Given the description of an element on the screen output the (x, y) to click on. 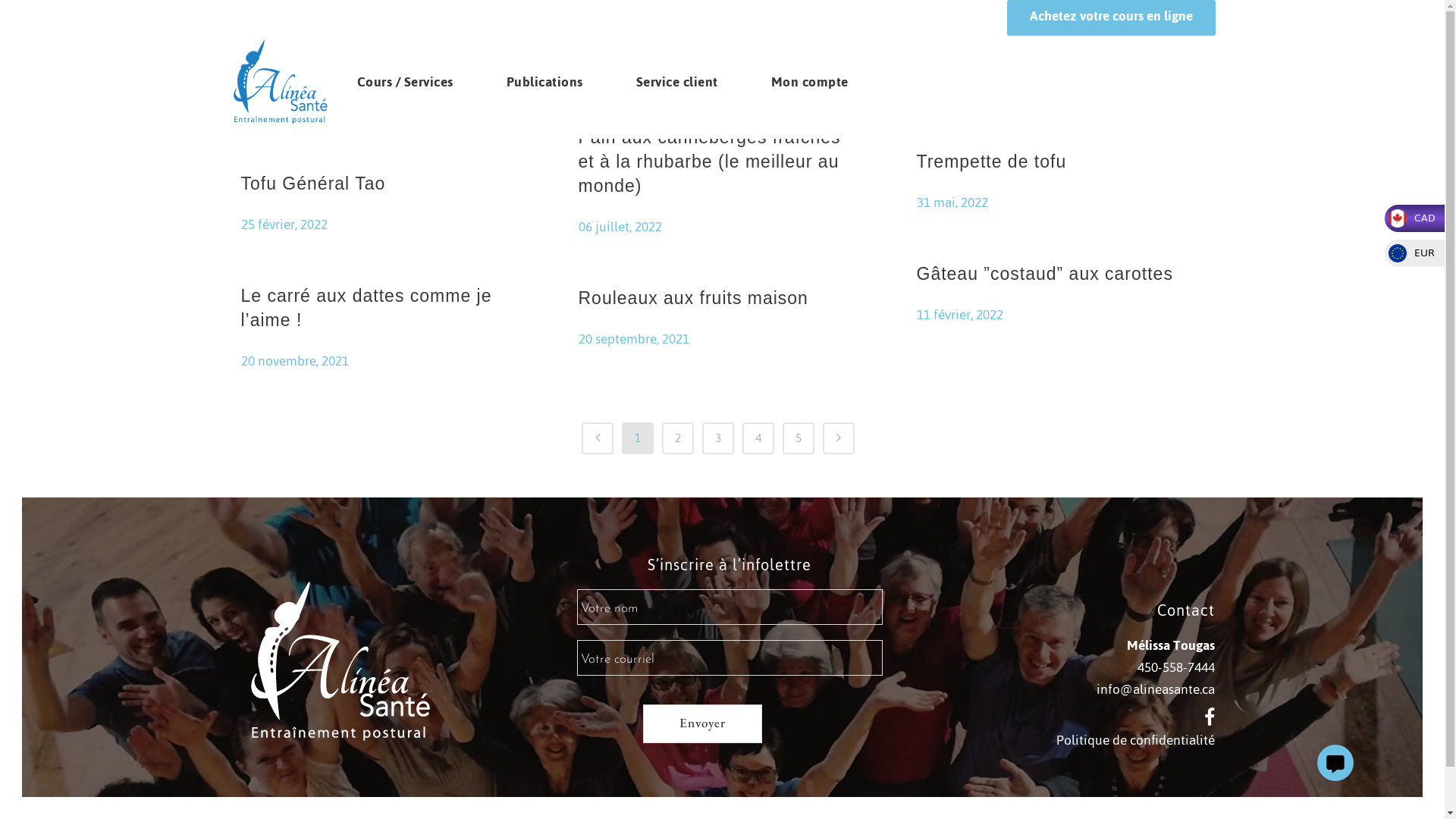
2 Element type: text (677, 438)
Publications Element type: text (544, 81)
Cours / Services Element type: text (405, 81)
Pancake moelleuse et savoureuse Element type: text (334, 37)
info@alineasante.ca Element type: text (1155, 689)
4 Element type: text (758, 438)
3 Element type: text (718, 438)
Mon compte Element type: text (809, 81)
Service client Element type: text (676, 81)
Envoyer Element type: text (702, 723)
Rouleaux aux fruits maison Element type: text (692, 297)
450-558-7444 Element type: text (1175, 667)
Trempette de tofu Element type: text (991, 161)
5 Element type: text (798, 438)
Achetez votre cours en ligne Element type: text (1111, 17)
